Given the description of an element on the screen output the (x, y) to click on. 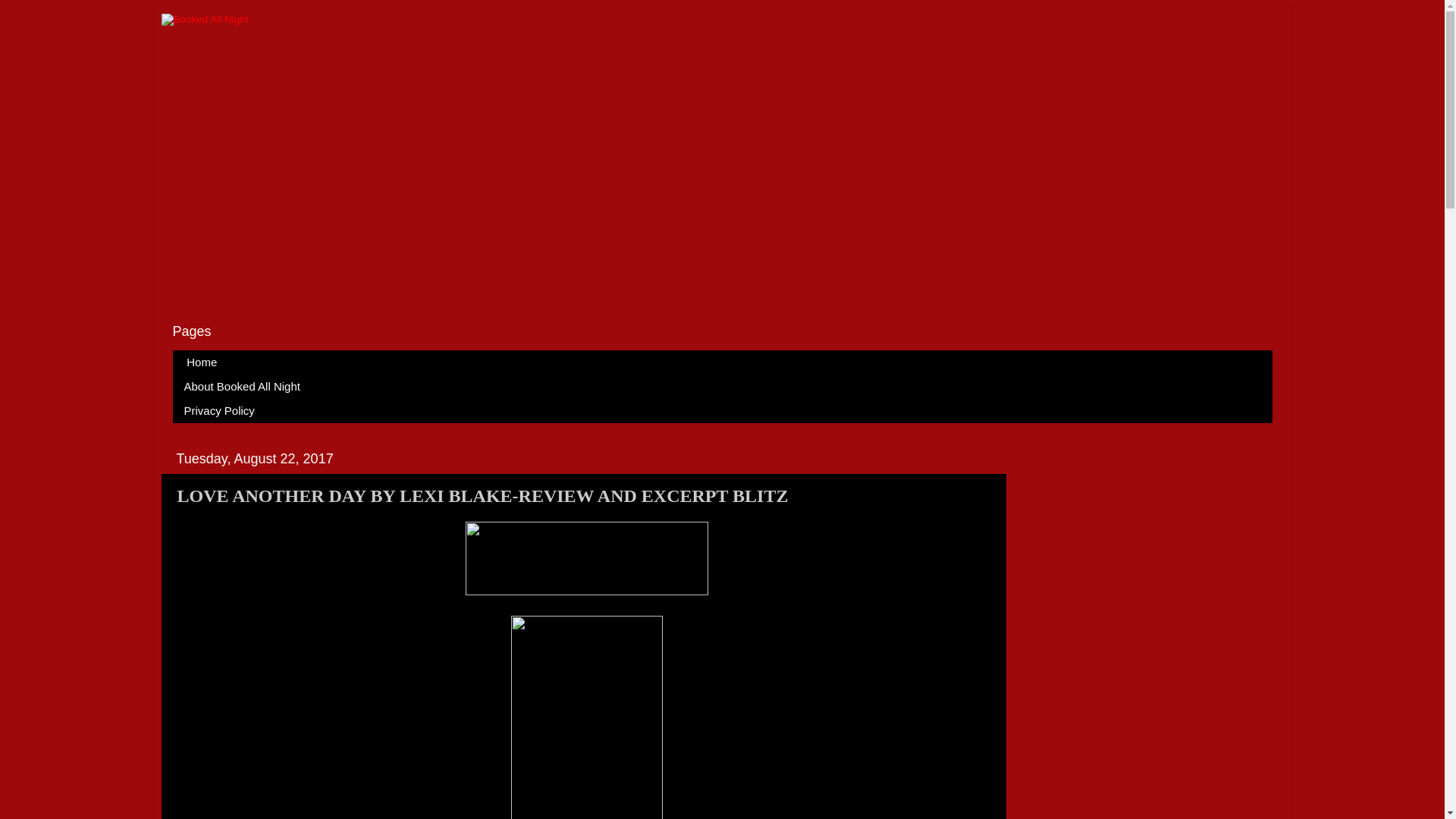
About Booked All Night (243, 386)
Privacy Policy (219, 410)
Home (201, 362)
